Given the description of an element on the screen output the (x, y) to click on. 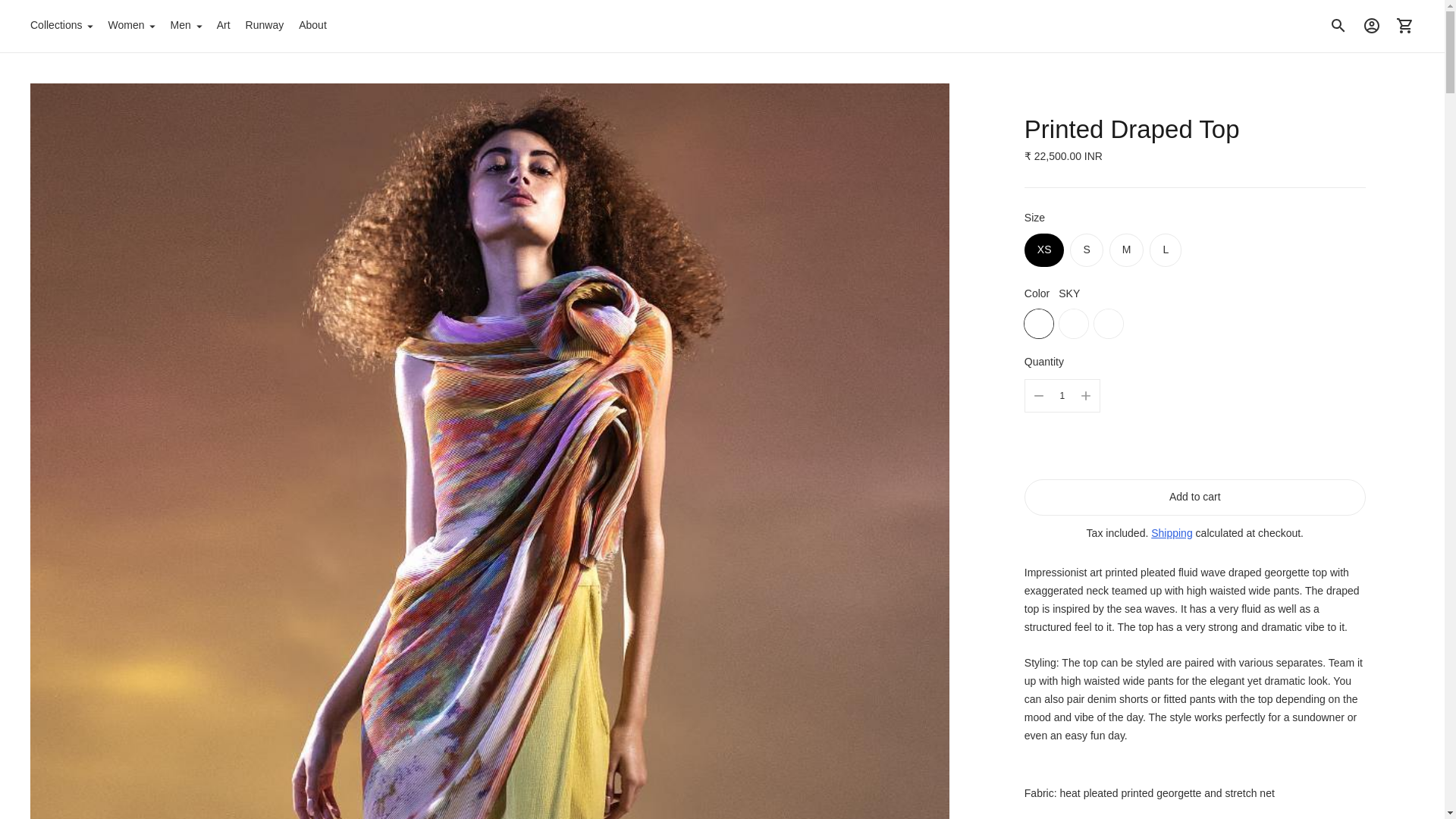
Cart (1405, 25)
Runway (264, 25)
Search (1338, 25)
Men (185, 25)
Women (130, 25)
Account (1372, 25)
Collections (61, 25)
